Given the description of an element on the screen output the (x, y) to click on. 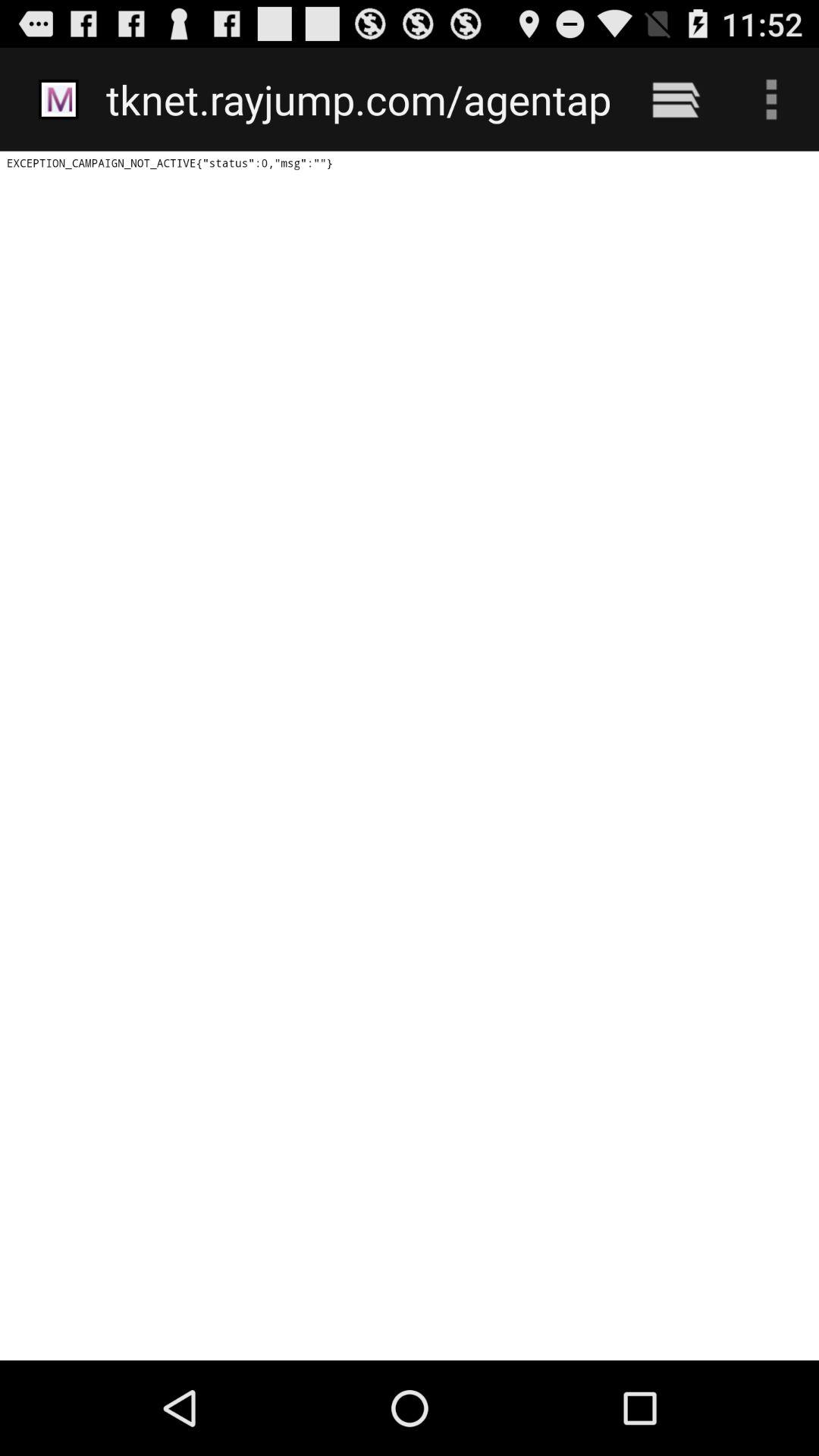
open the item to the right of the tknet rayjump com item (675, 99)
